Given the description of an element on the screen output the (x, y) to click on. 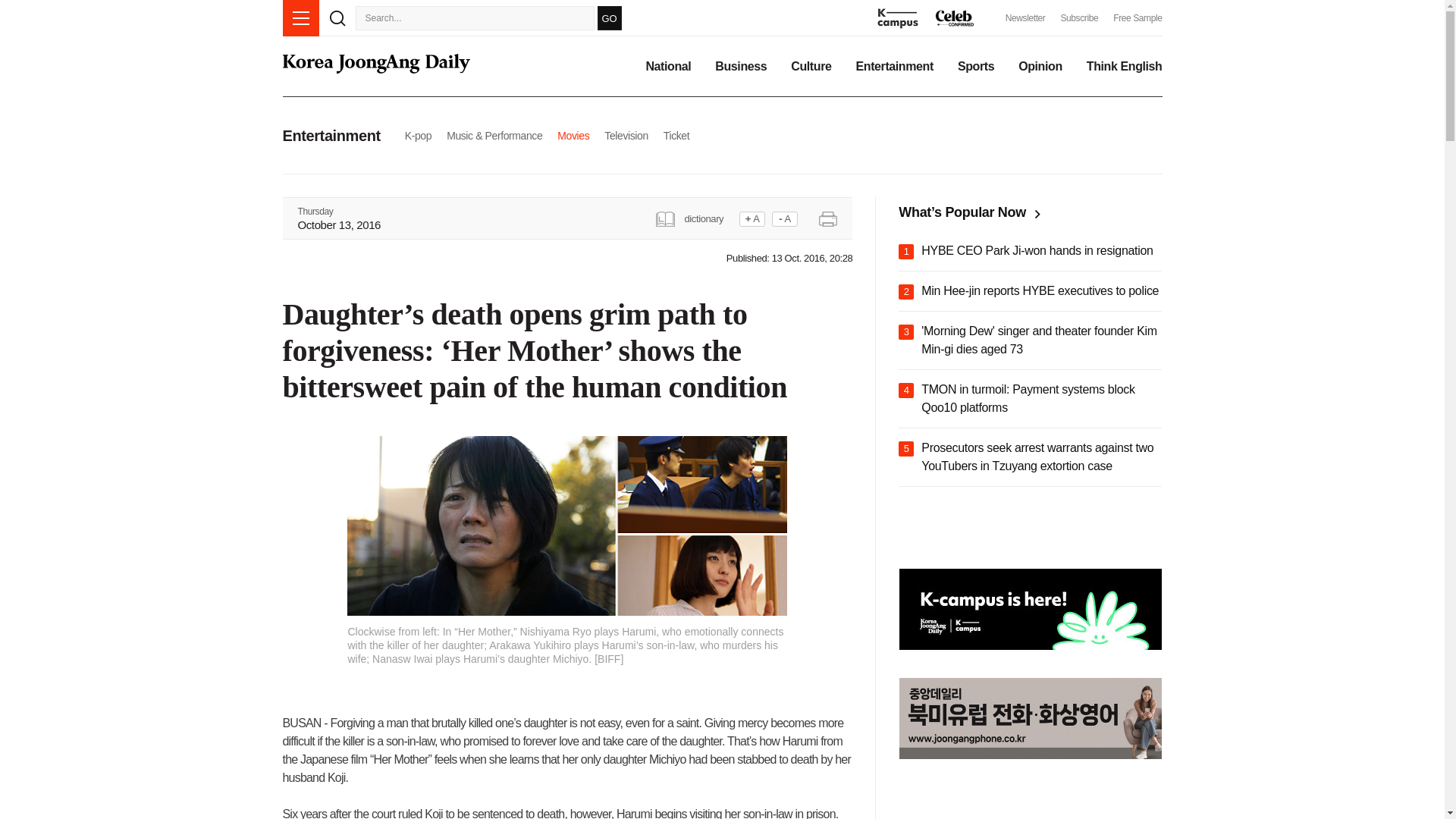
Ticket (675, 135)
Television (625, 135)
Think English (1123, 66)
GO (608, 17)
K-pop (417, 135)
Sports (976, 66)
Culture (810, 66)
Movies (573, 135)
Free Sample (1137, 18)
Newsletter (1025, 18)
National (667, 66)
Television (625, 135)
Movies (573, 135)
Subscribe (1078, 18)
Opinion (1039, 66)
